Given the description of an element on the screen output the (x, y) to click on. 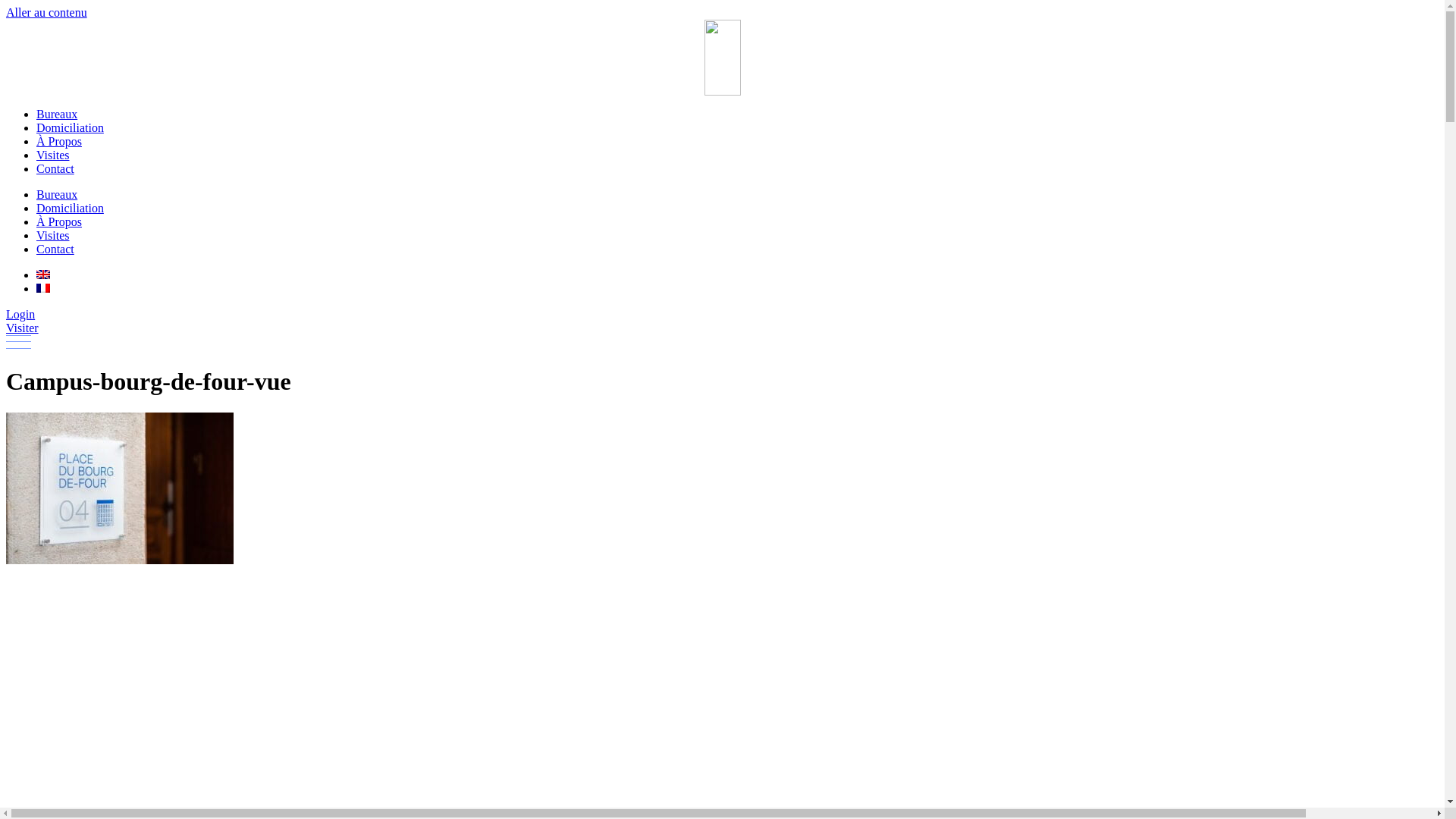
Login Element type: text (20, 313)
Contact Element type: text (55, 248)
Aller au contenu Element type: text (46, 12)
Visiter Element type: text (22, 327)
Visites Element type: text (52, 235)
Contact Element type: text (55, 168)
Domiciliation Element type: text (69, 127)
Bureaux Element type: text (56, 194)
Visites Element type: text (52, 154)
Domiciliation Element type: text (69, 207)
Bureaux Element type: text (56, 113)
